Given the description of an element on the screen output the (x, y) to click on. 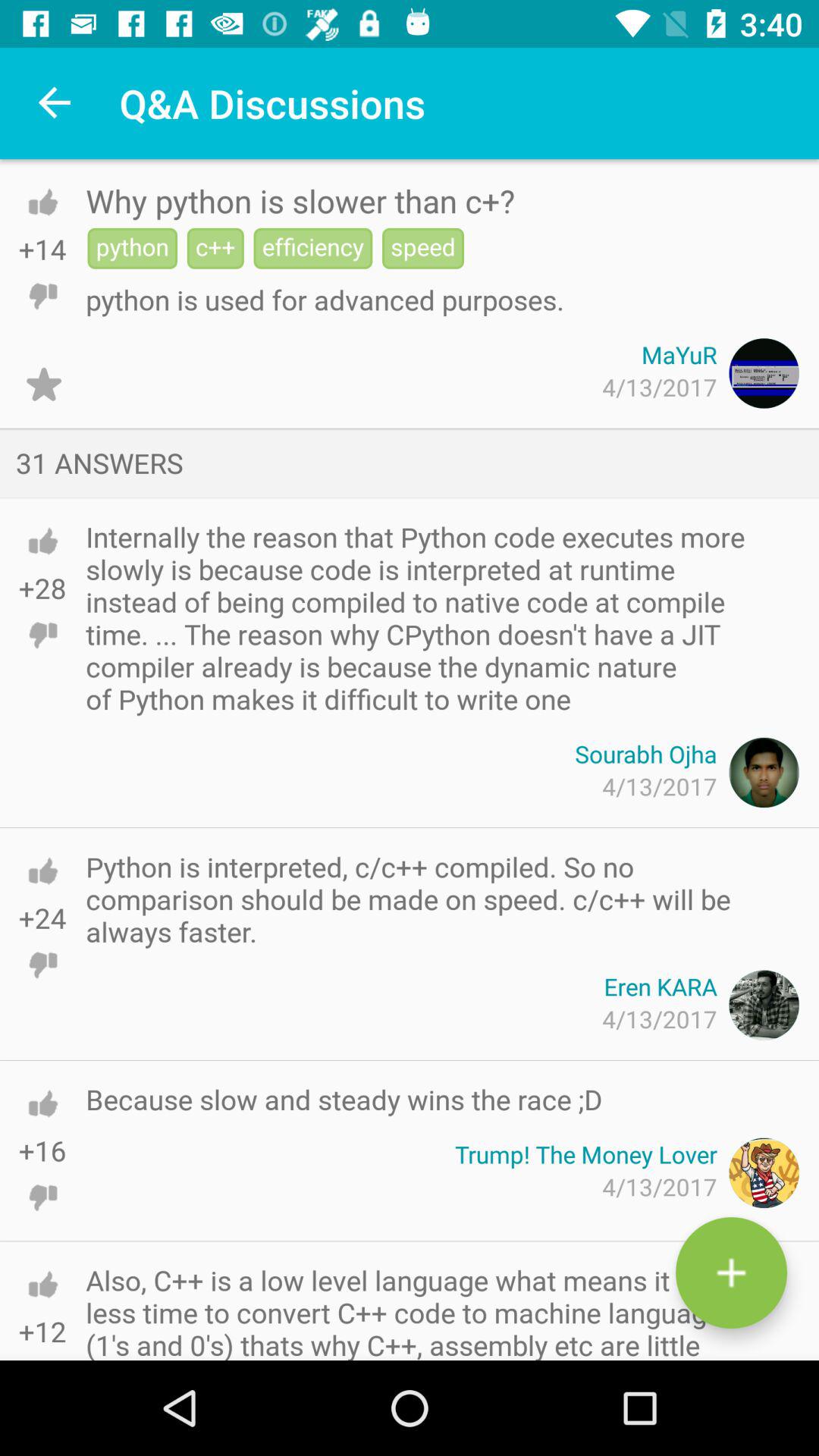
turn on icon below the 31 answers (424, 617)
